Given the description of an element on the screen output the (x, y) to click on. 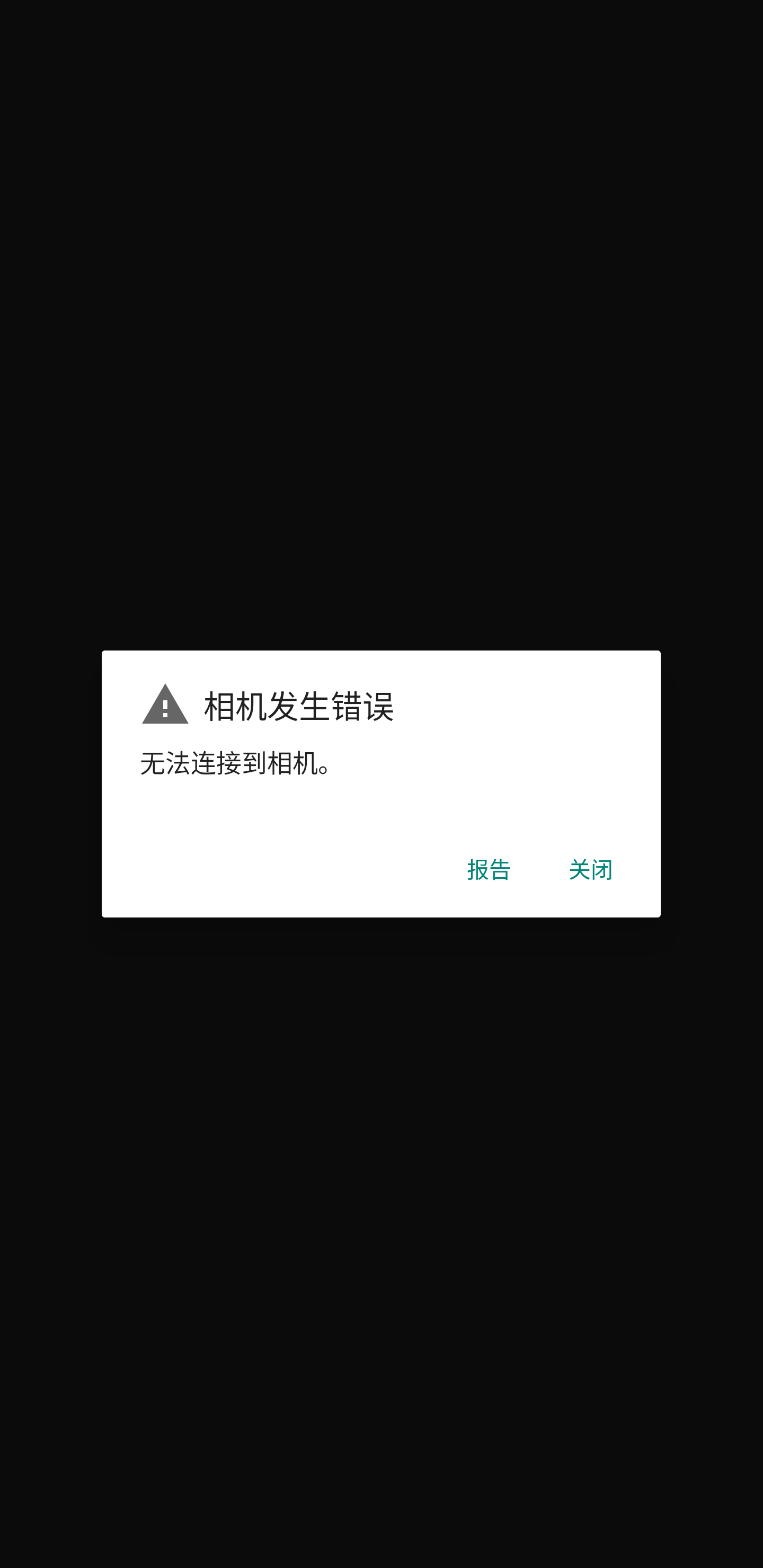
报告 (488, 867)
关闭 (590, 867)
